Given the description of an element on the screen output the (x, y) to click on. 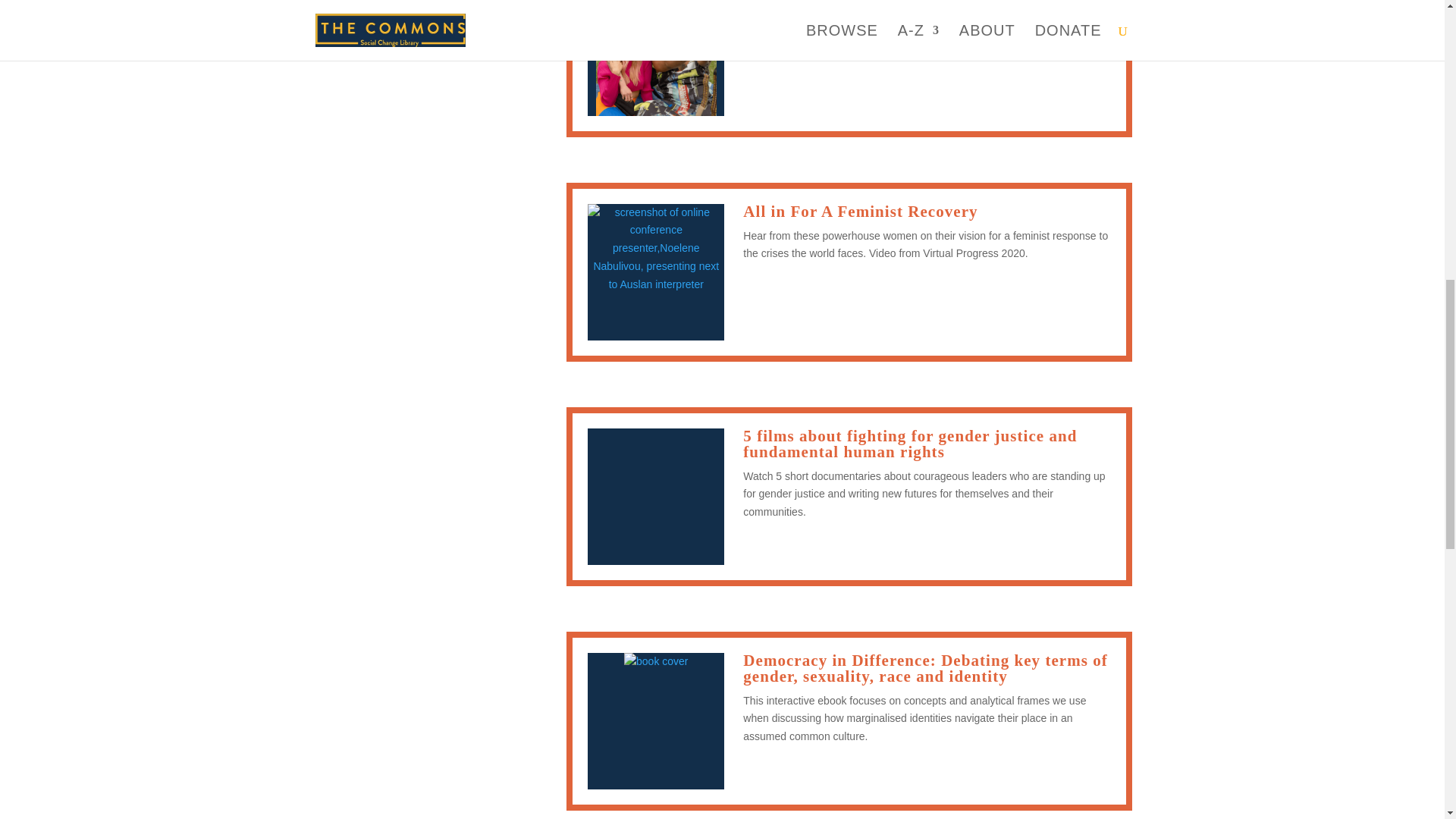
All in For A Feminist Recovery (859, 211)
